Given the description of an element on the screen output the (x, y) to click on. 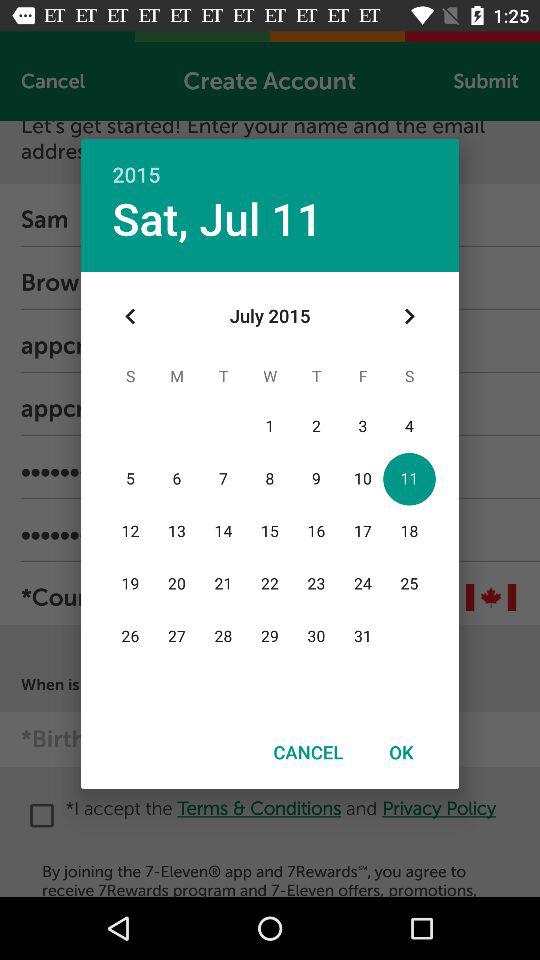
turn off the cancel at the bottom (308, 751)
